Given the description of an element on the screen output the (x, y) to click on. 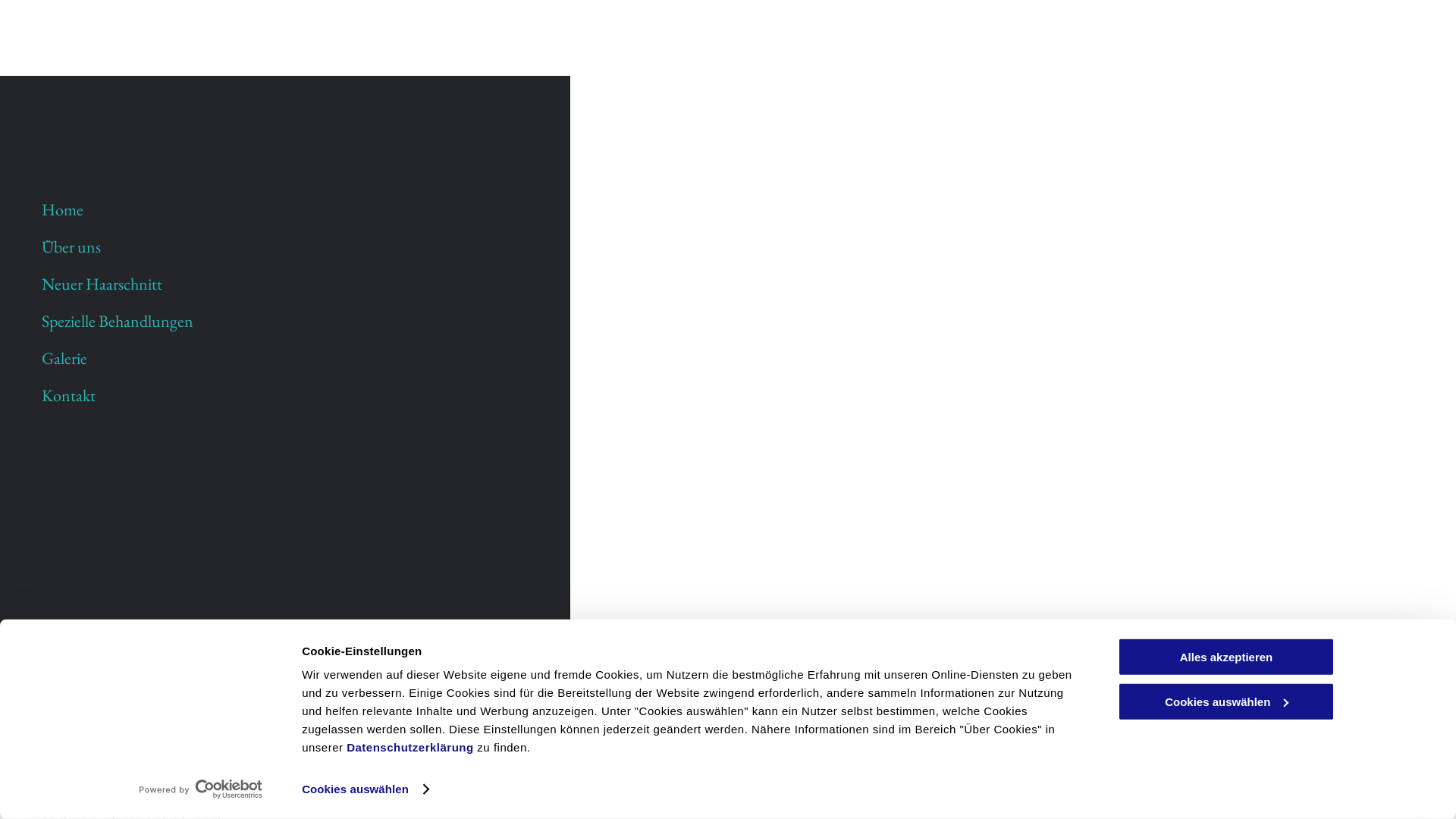
Kontakt Element type: text (296, 395)
Home Element type: text (296, 209)
Spezielle Behandlungen Element type: text (296, 320)
Galerie Element type: text (296, 357)
Alles akzeptieren Element type: text (1225, 656)
Neuer Haarschnitt Element type: text (296, 283)
